Given the description of an element on the screen output the (x, y) to click on. 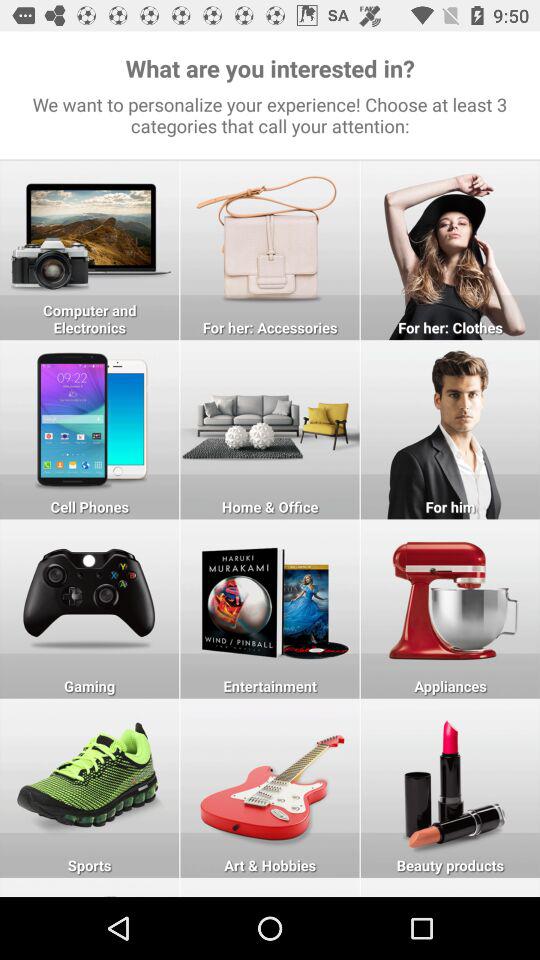
add interest for art and hobbies (269, 787)
